Given the description of an element on the screen output the (x, y) to click on. 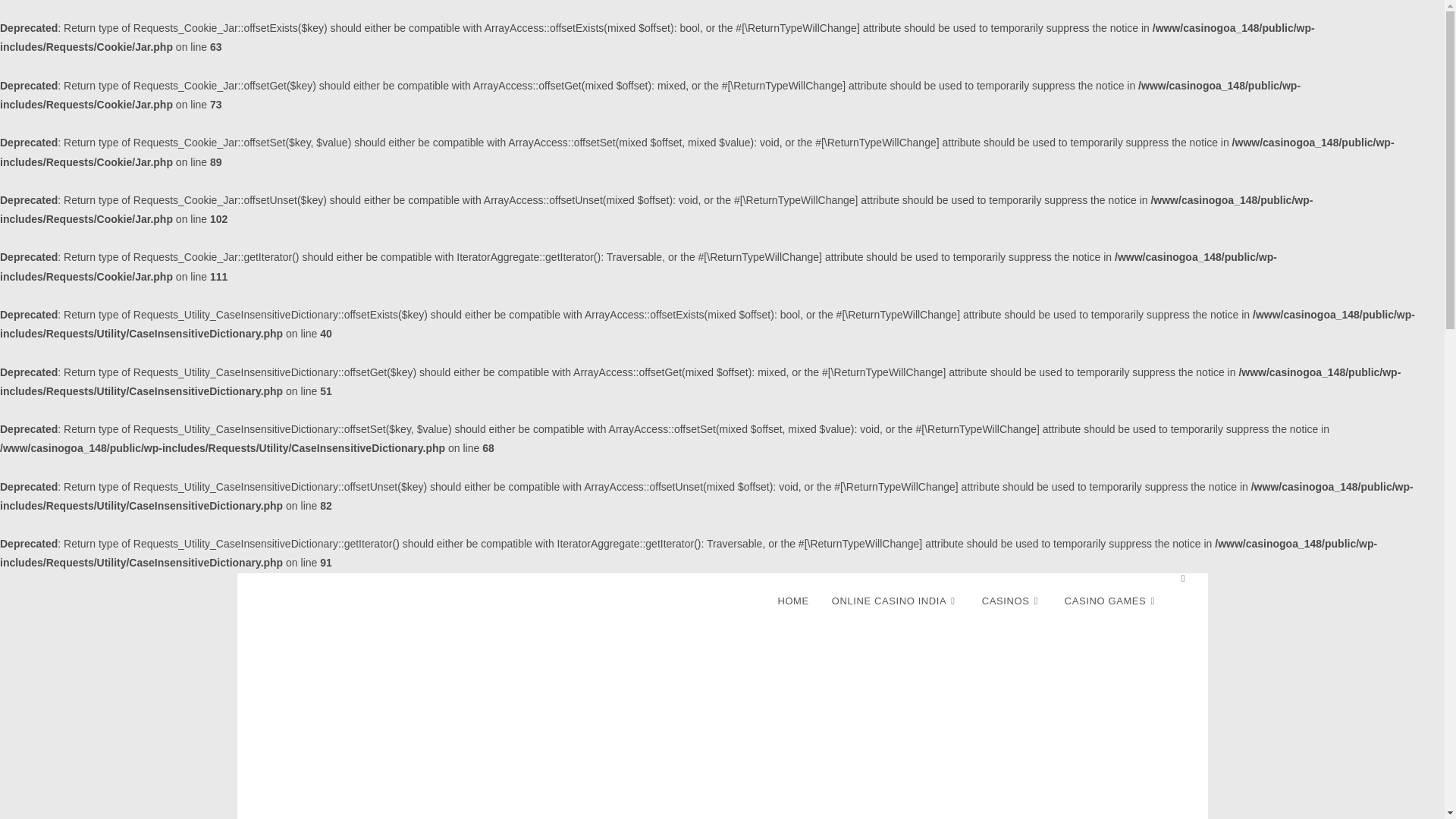
ONLINE CASINO INDIA (896, 601)
HOME (792, 601)
CASINOS (1011, 601)
